Given the description of an element on the screen output the (x, y) to click on. 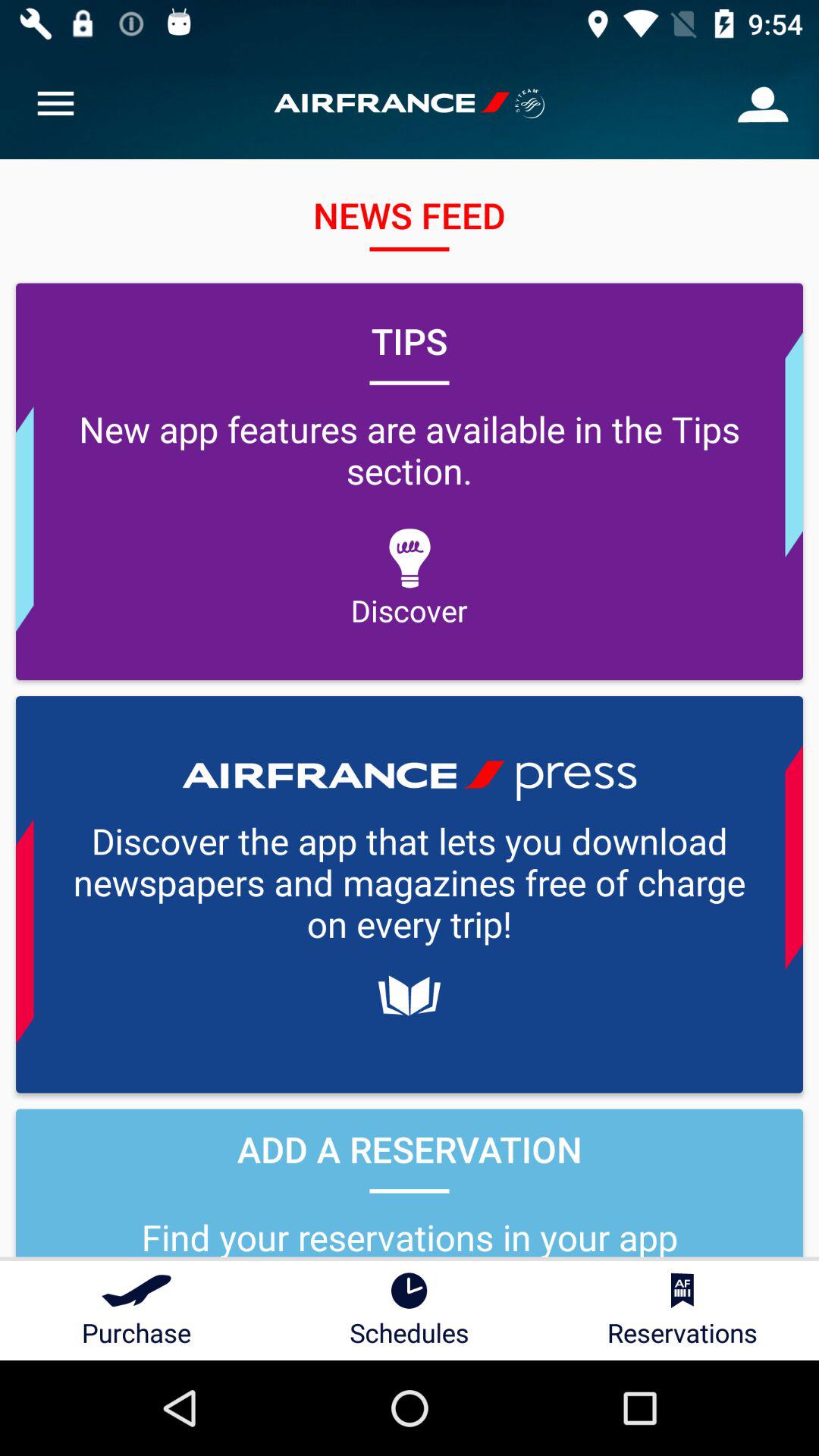
select schedules (409, 1310)
